Given the description of an element on the screen output the (x, y) to click on. 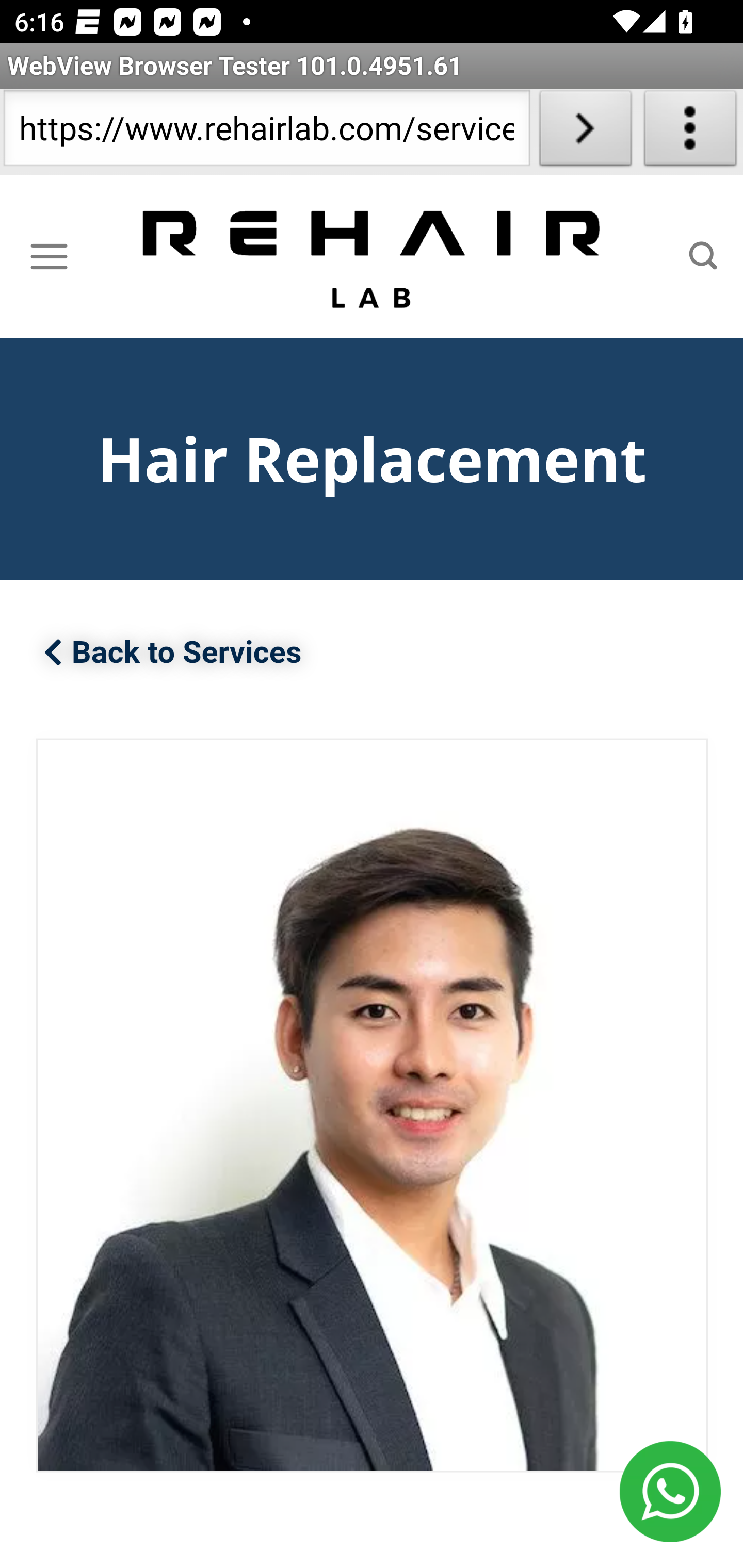
Load URL (585, 132)
About WebView (690, 132)
Rehair Lab (372, 256)
Menu  (48, 256)
Search  (703, 256)
Back to Services (173, 653)
